Given the description of an element on the screen output the (x, y) to click on. 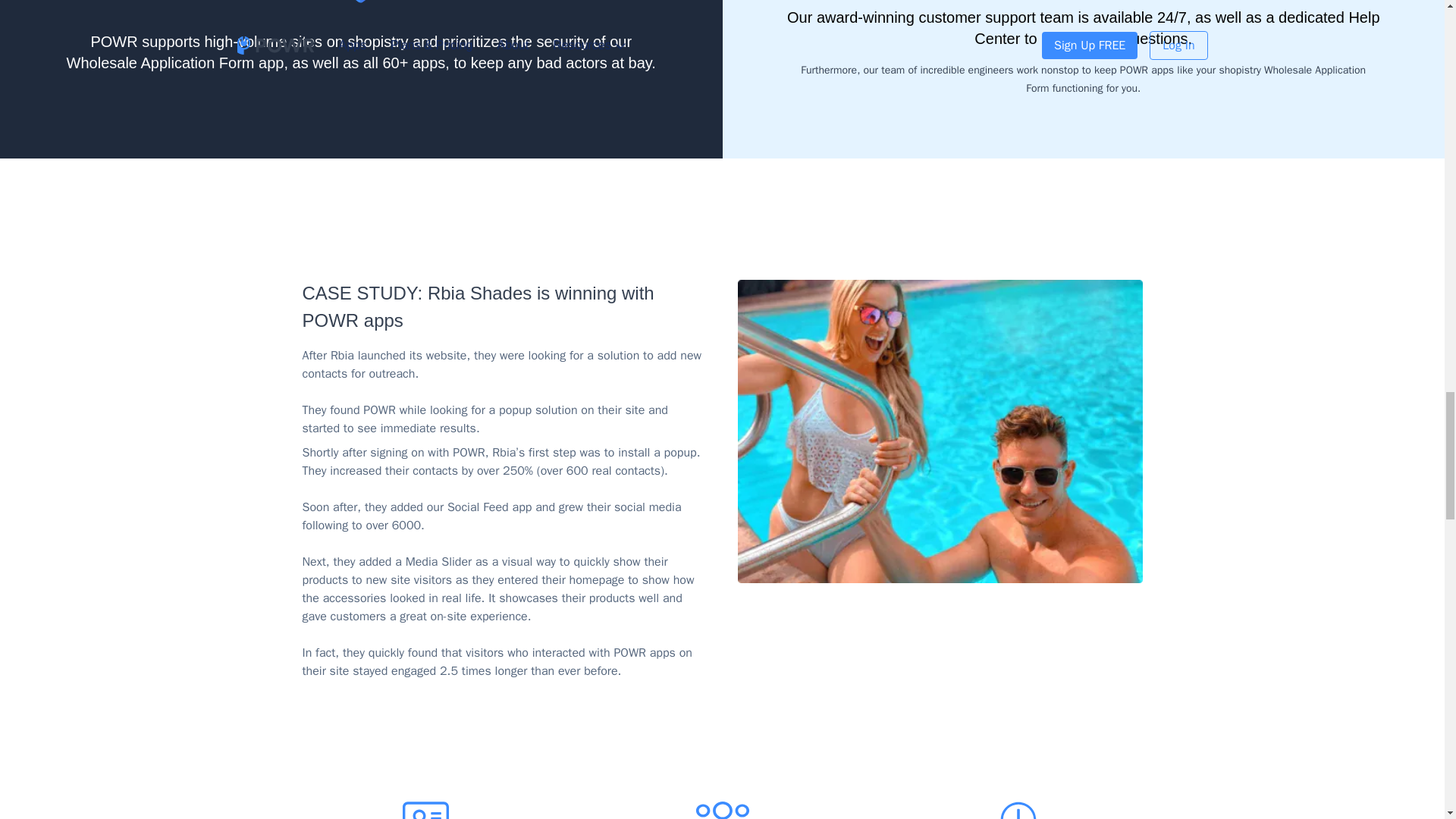
Help Center (1176, 27)
